Given the description of an element on the screen output the (x, y) to click on. 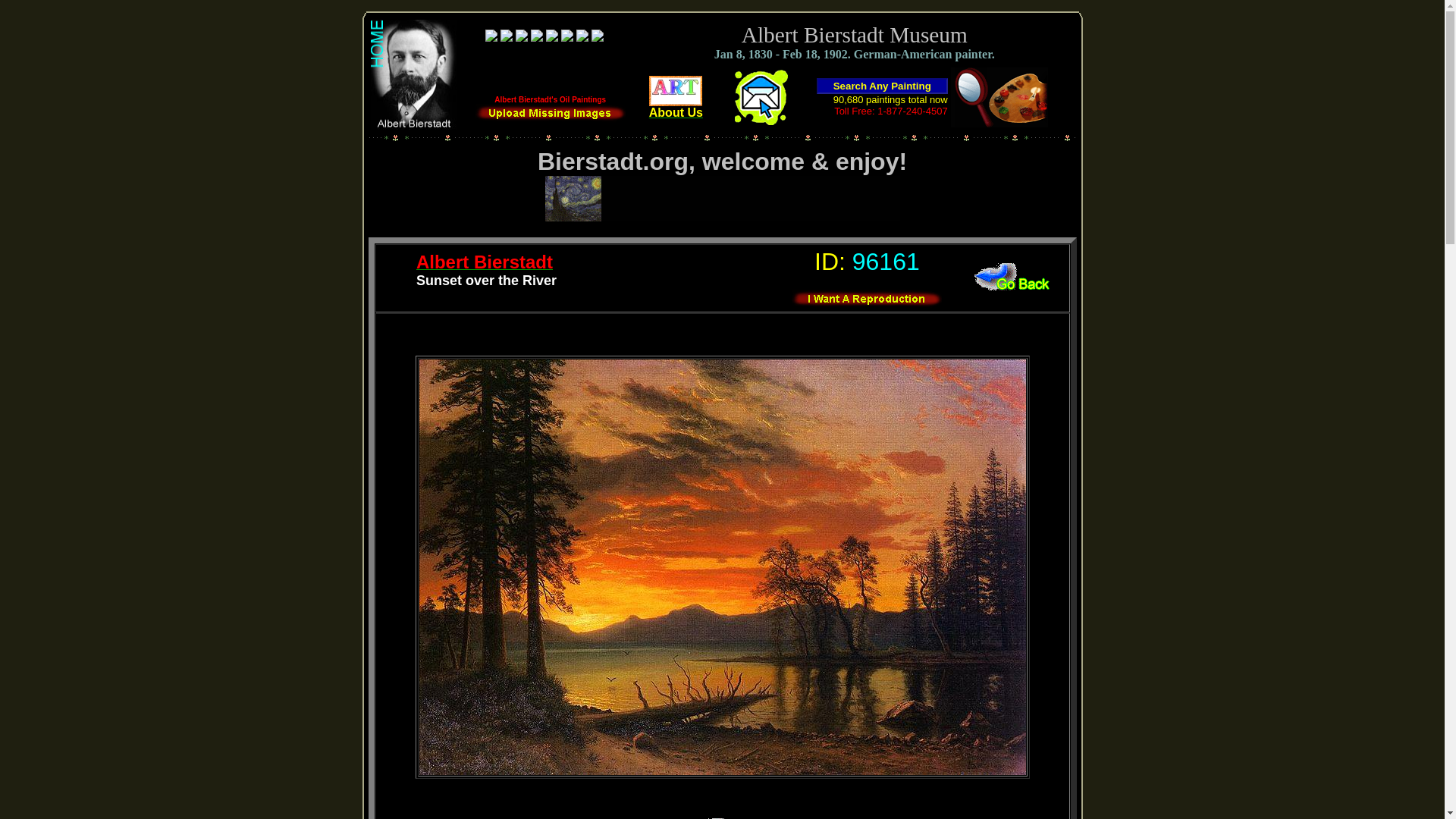
Search Any Painting (881, 85)
Albert Bierstadt (484, 264)
About Us (676, 106)
